Given the description of an element on the screen output the (x, y) to click on. 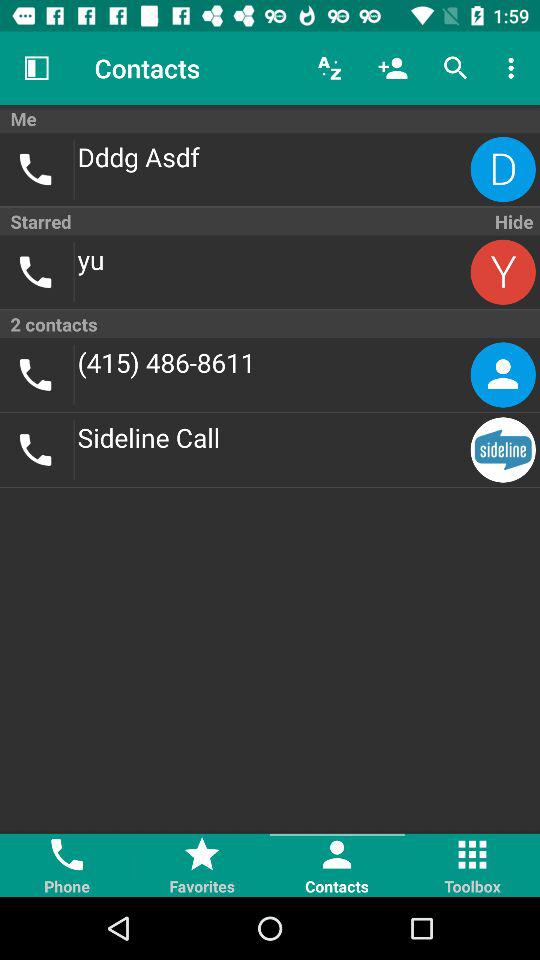
choose the item to the right of contacts item (329, 67)
